Given the description of an element on the screen output the (x, y) to click on. 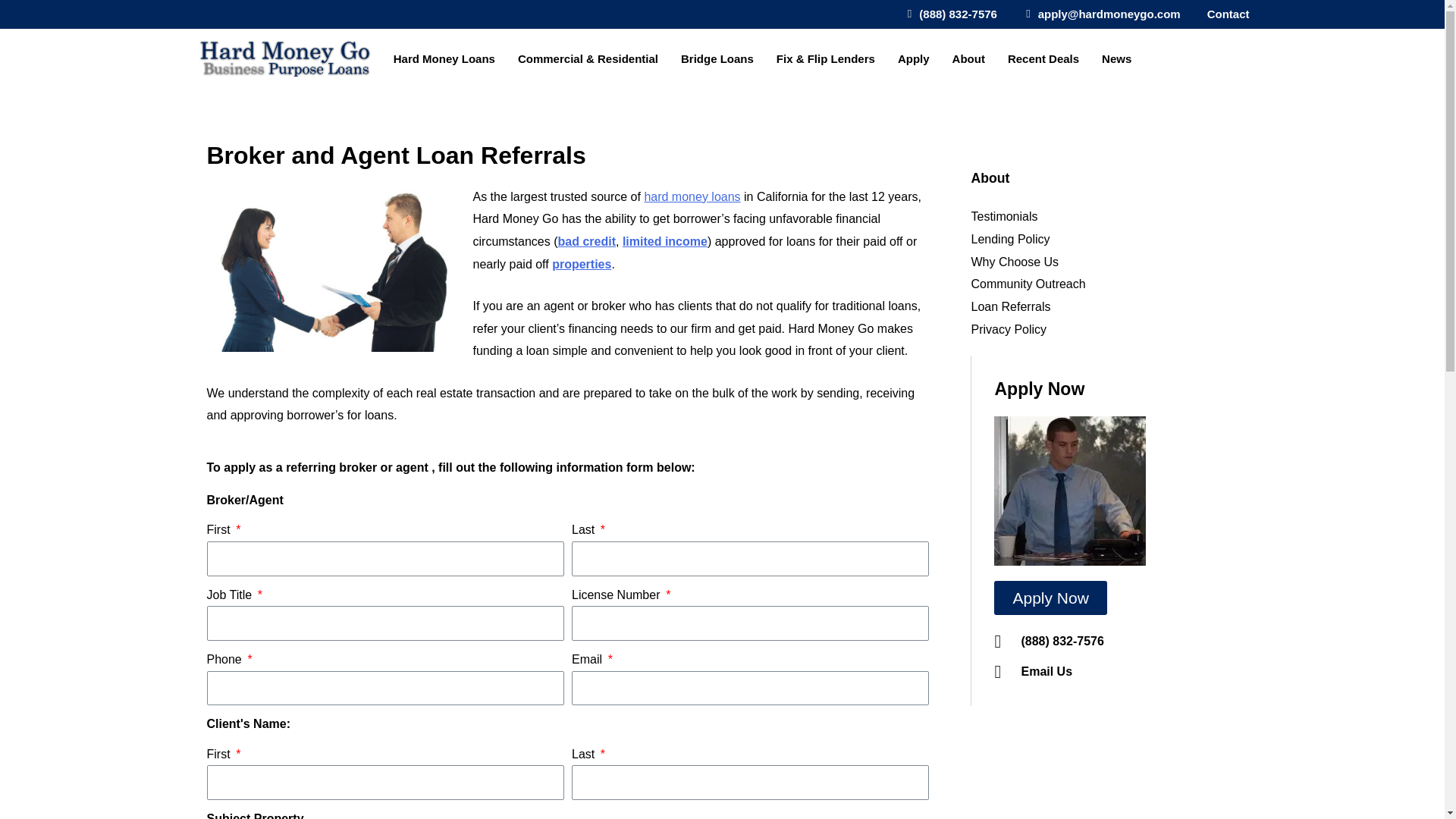
Contact (1224, 14)
Hard Money Loans (448, 58)
Bridge Loans (720, 58)
